Given the description of an element on the screen output the (x, y) to click on. 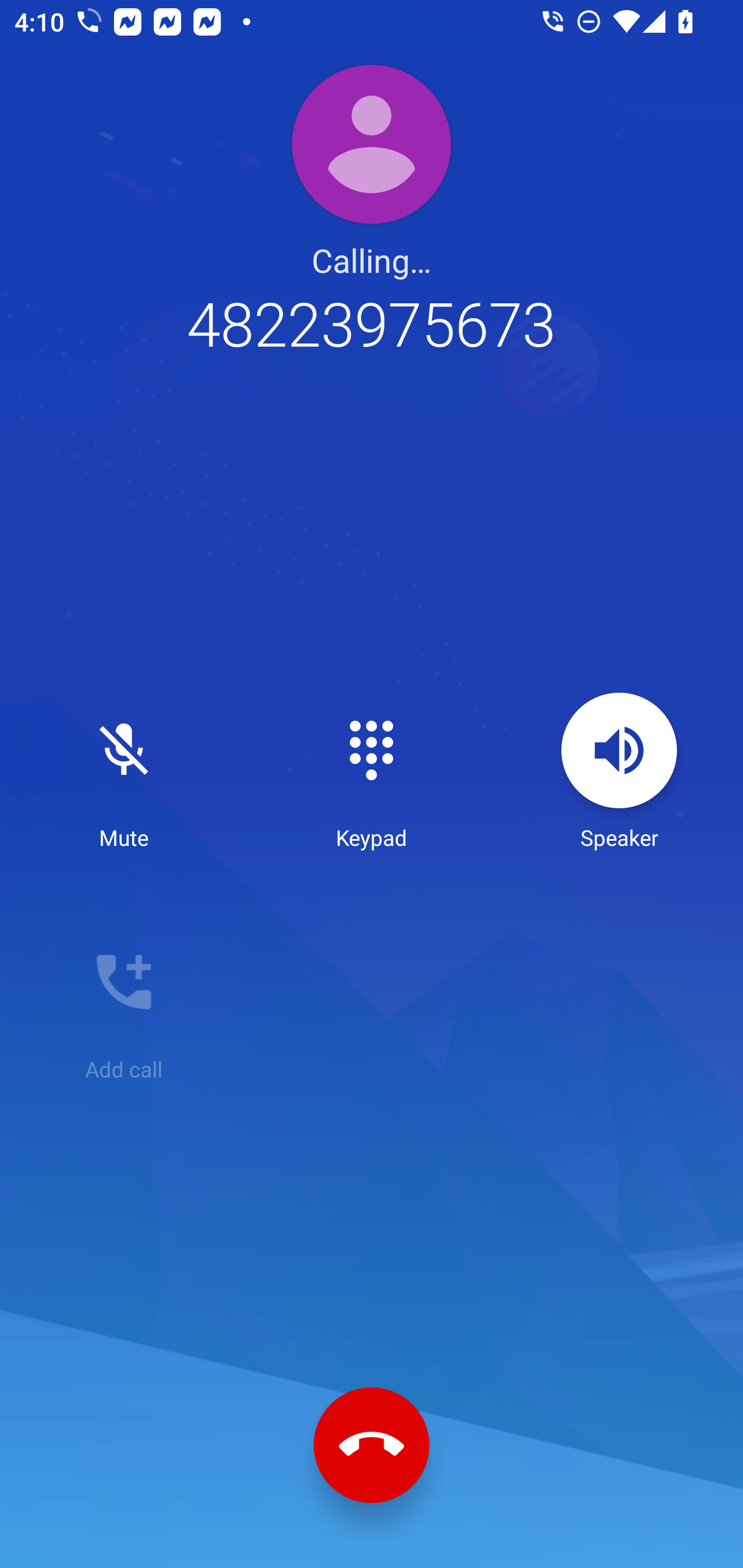
Unmuted Mute (123, 772)
Keypad (371, 772)
Speaker, is Off Speaker (619, 772)
Add call (123, 1004)
End call (371, 1445)
